Given the description of an element on the screen output the (x, y) to click on. 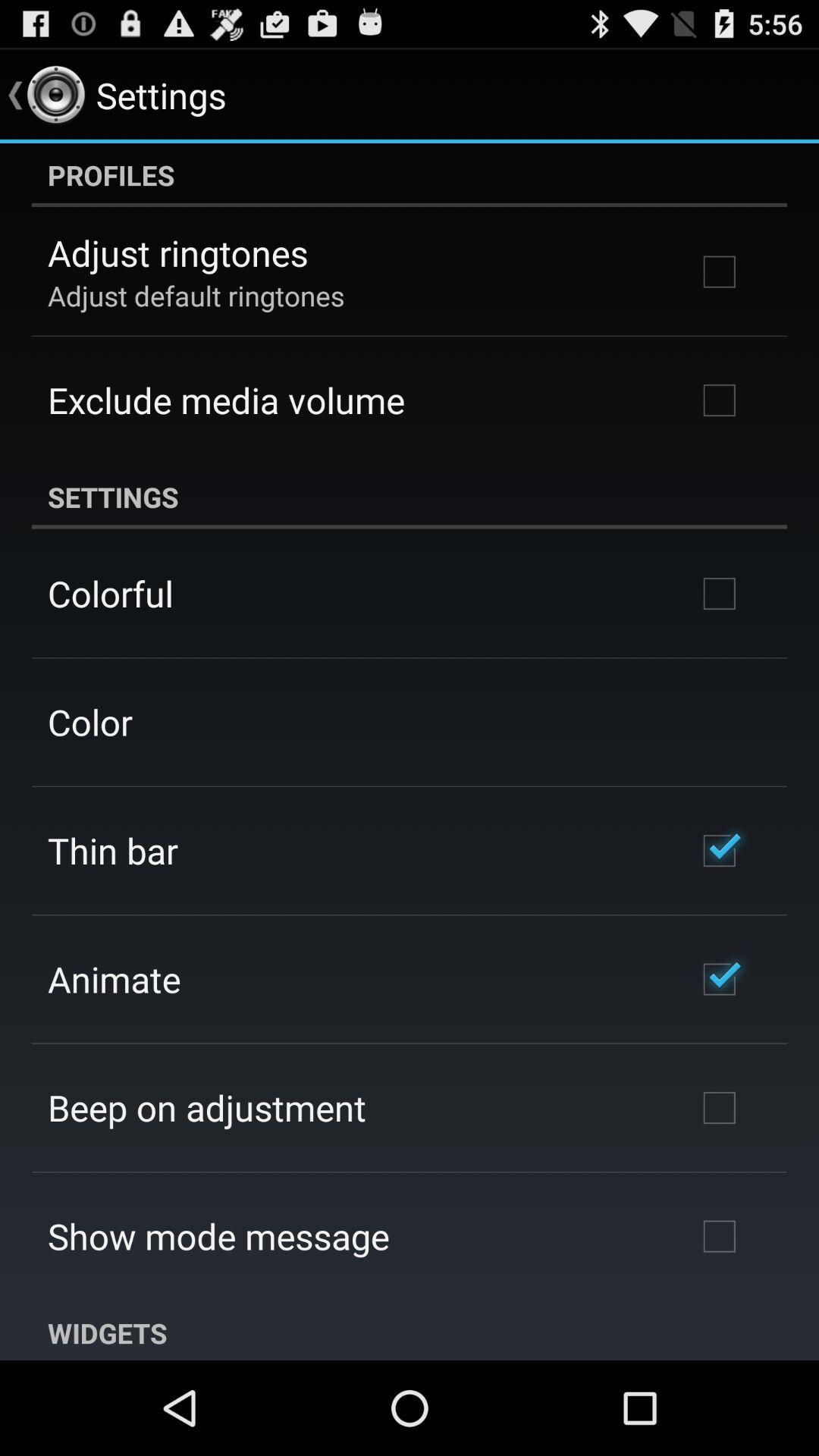
scroll until the beep on adjustment app (206, 1107)
